Given the description of an element on the screen output the (x, y) to click on. 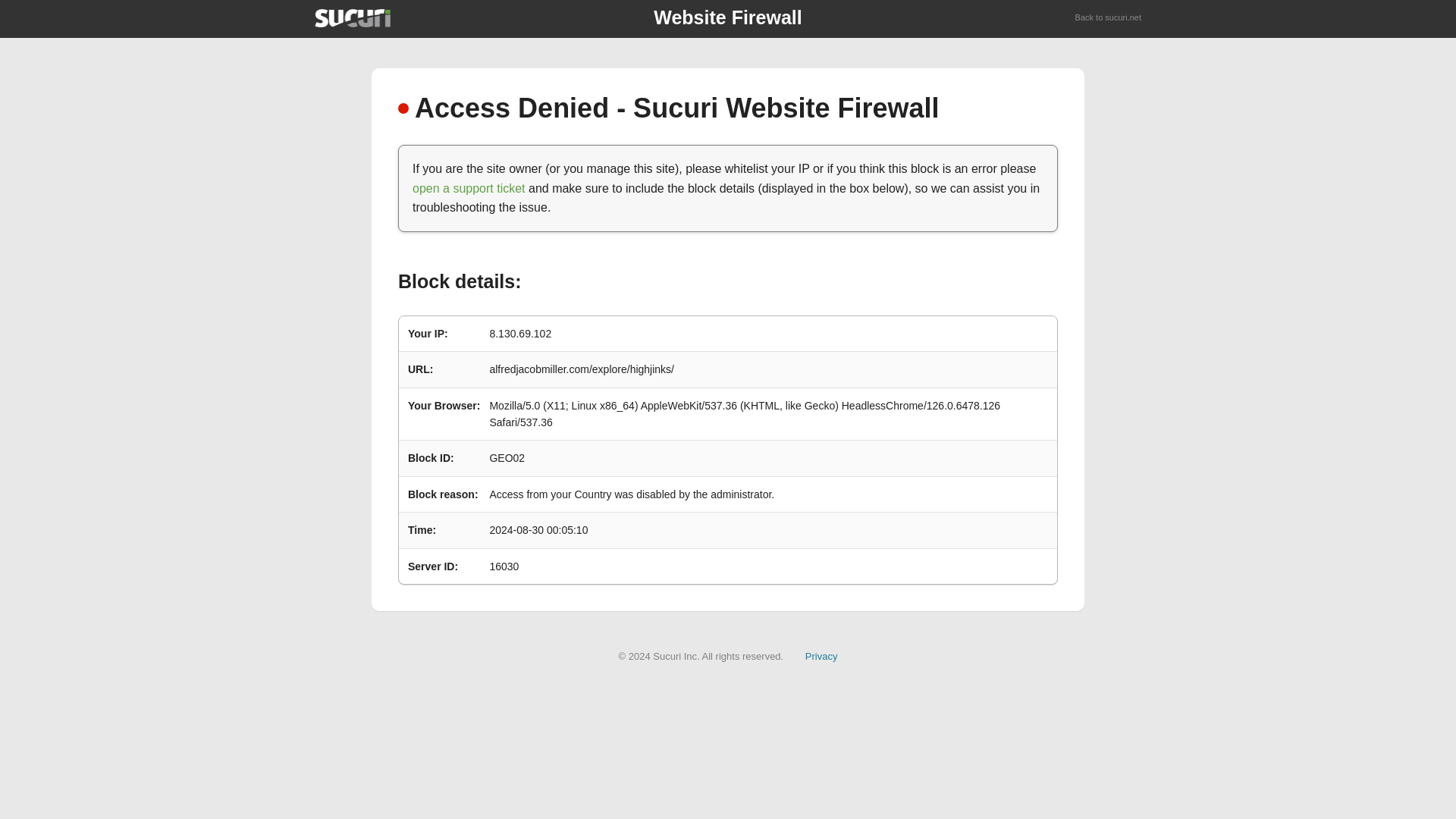
Back to sucuri.net (1108, 18)
Privacy (821, 655)
open a support ticket (468, 187)
